Given the description of an element on the screen output the (x, y) to click on. 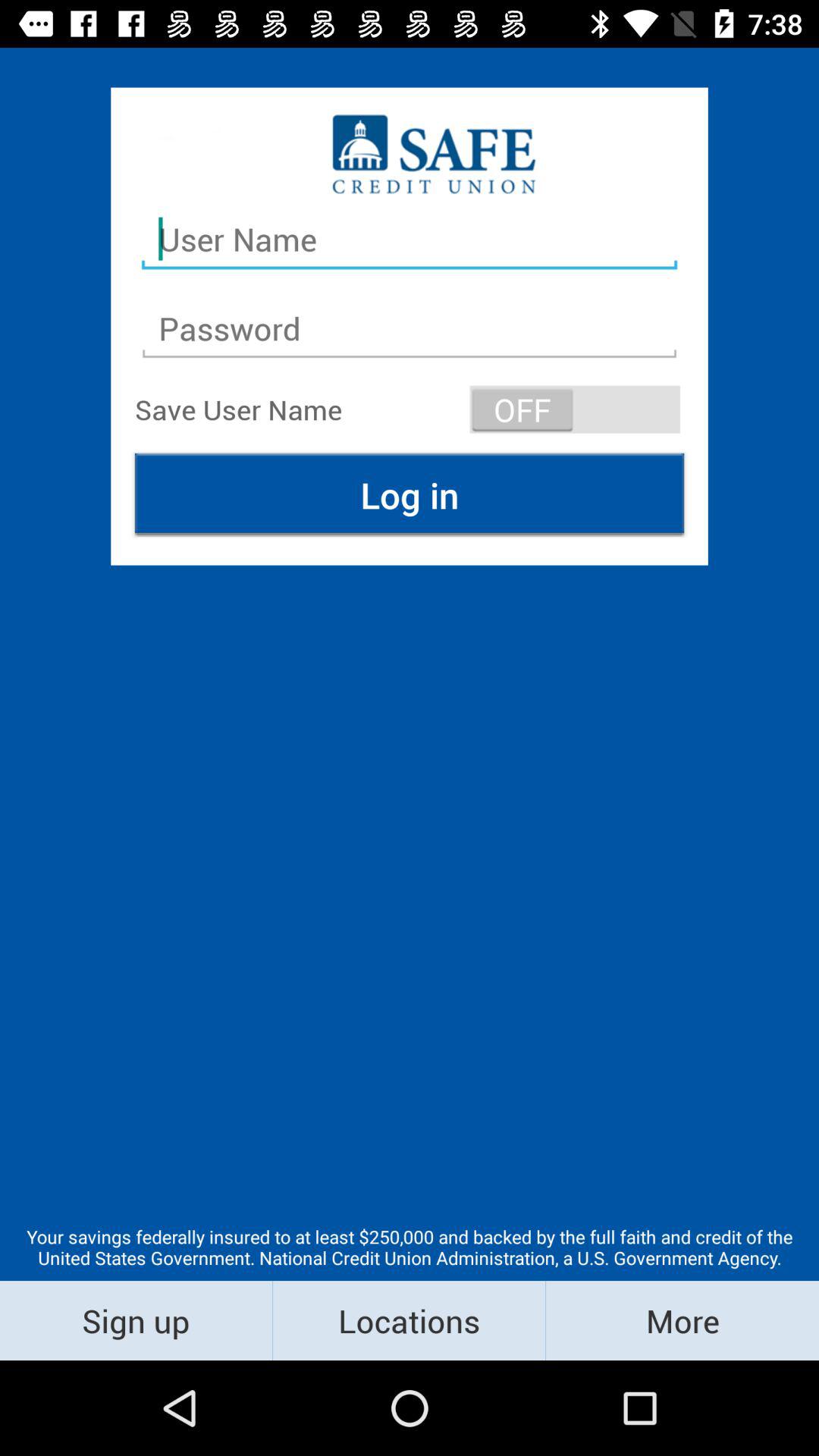
open the icon at the bottom right corner (682, 1320)
